Given the description of an element on the screen output the (x, y) to click on. 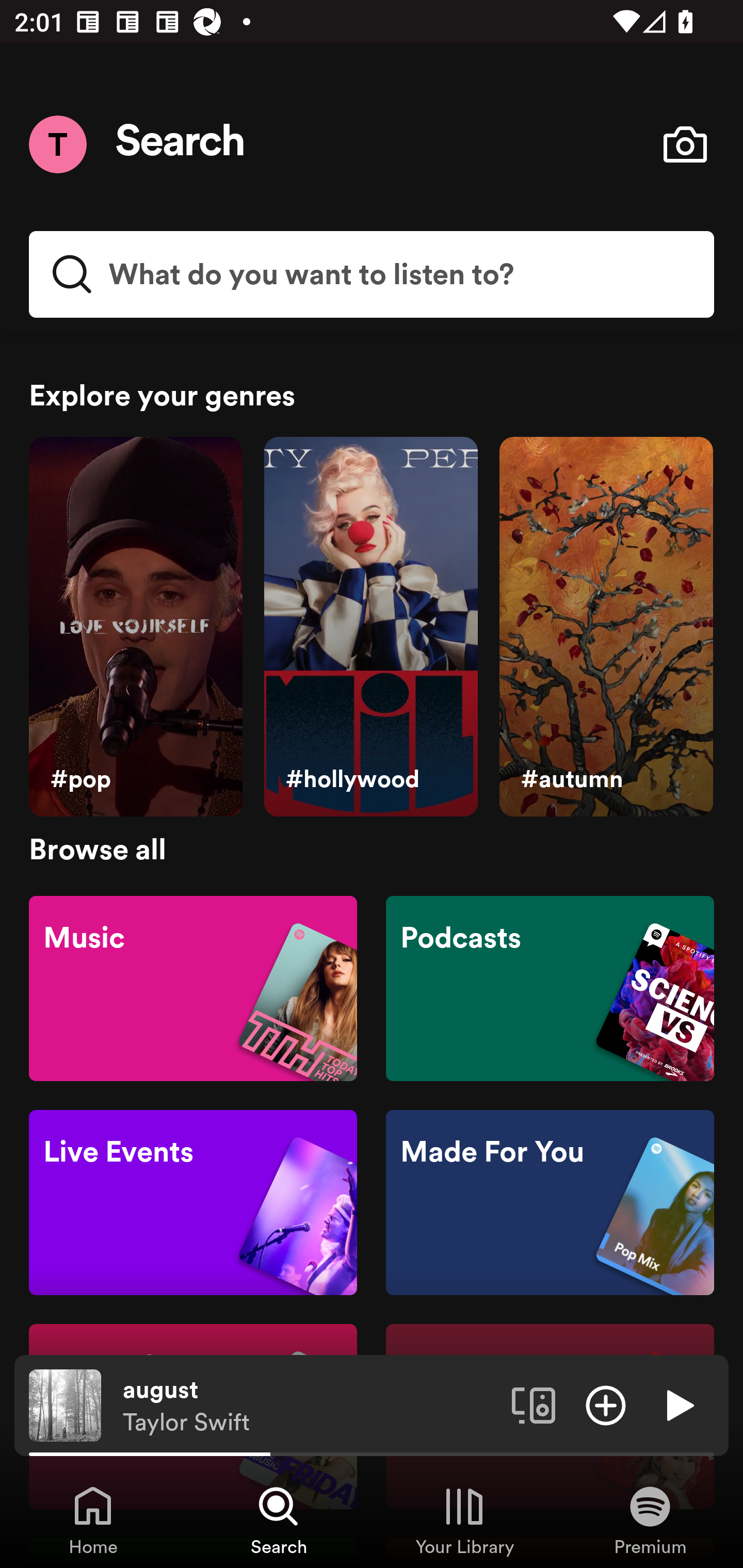
Menu (57, 144)
Open camera (685, 145)
Search (180, 144)
#pop (135, 626)
#hollywood (370, 626)
#autumn (606, 626)
Music (192, 987)
Podcasts (549, 987)
Live Events (192, 1202)
Made For You (549, 1202)
august Taylor Swift (309, 1405)
The cover art of the currently playing track (64, 1404)
Connect to a device. Opens the devices menu (533, 1404)
Add item (605, 1404)
Play (677, 1404)
Home, Tab 1 of 4 Home Home (92, 1519)
Search, Tab 2 of 4 Search Search (278, 1519)
Your Library, Tab 3 of 4 Your Library Your Library (464, 1519)
Premium, Tab 4 of 4 Premium Premium (650, 1519)
